Given the description of an element on the screen output the (x, y) to click on. 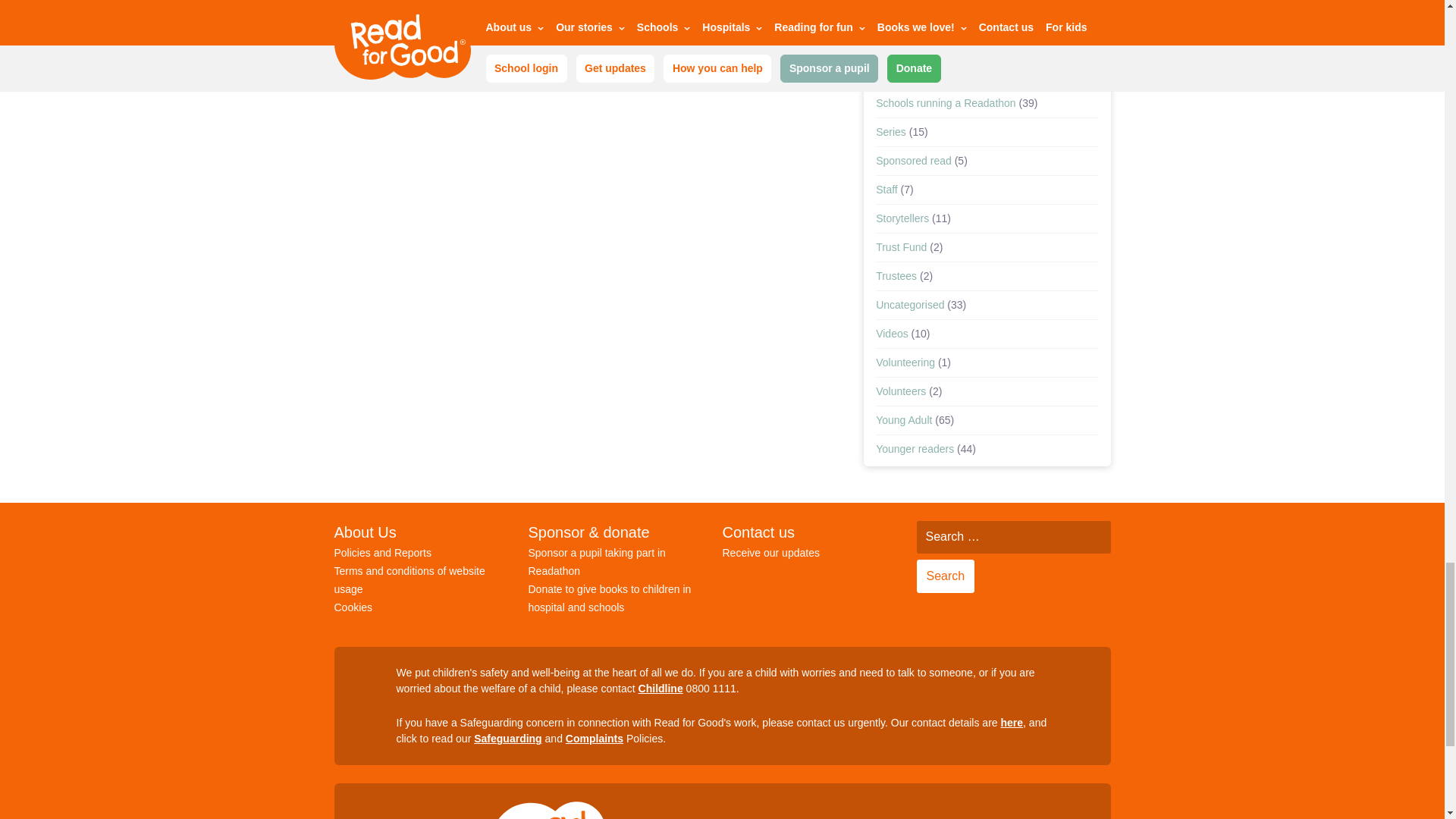
Search (944, 575)
Search (944, 575)
